Given the description of an element on the screen output the (x, y) to click on. 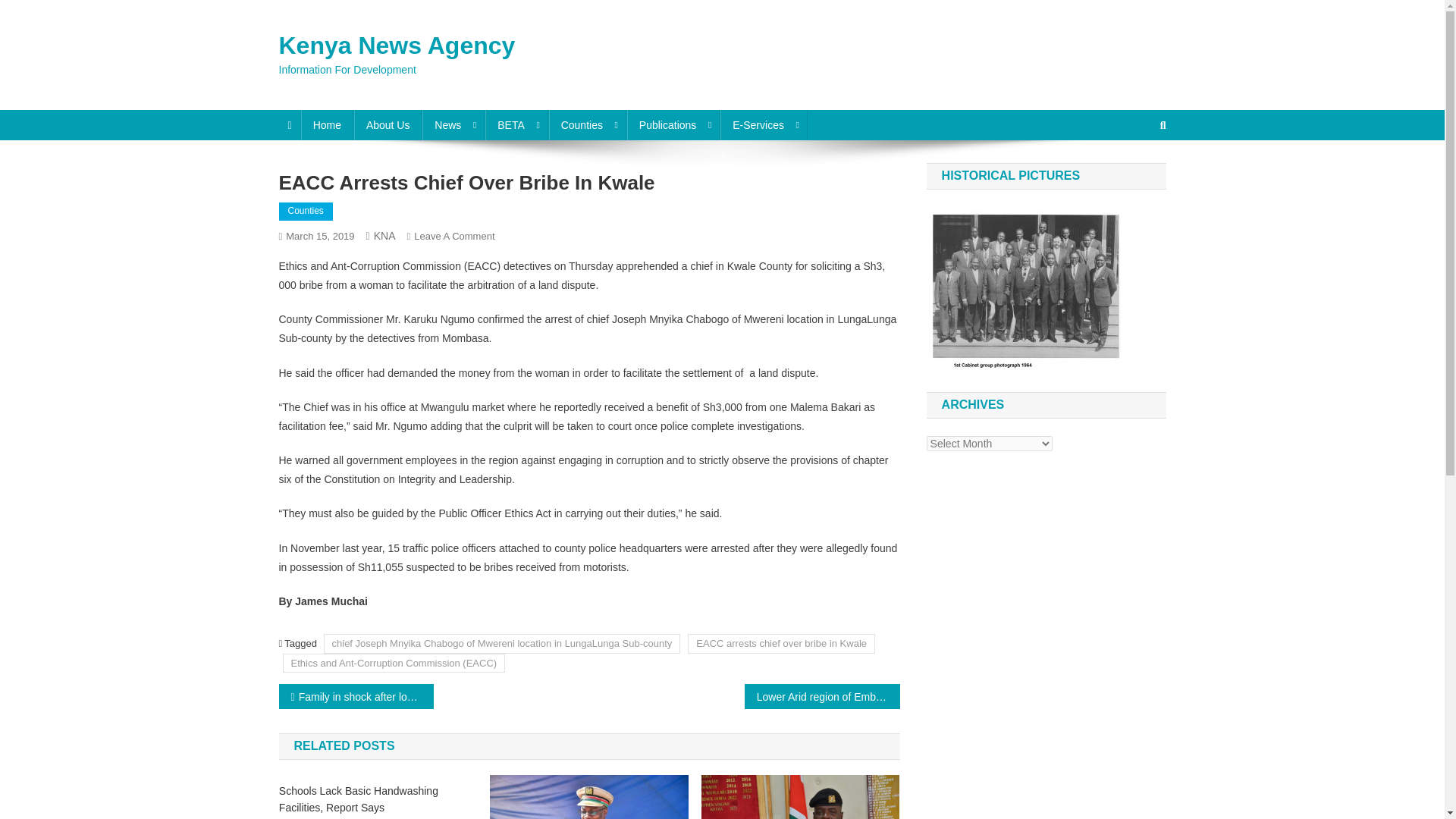
Counties (587, 124)
Kenya News Agency (397, 44)
About Us (387, 124)
BETA (516, 124)
News (453, 124)
Home (327, 124)
